Given the description of an element on the screen output the (x, y) to click on. 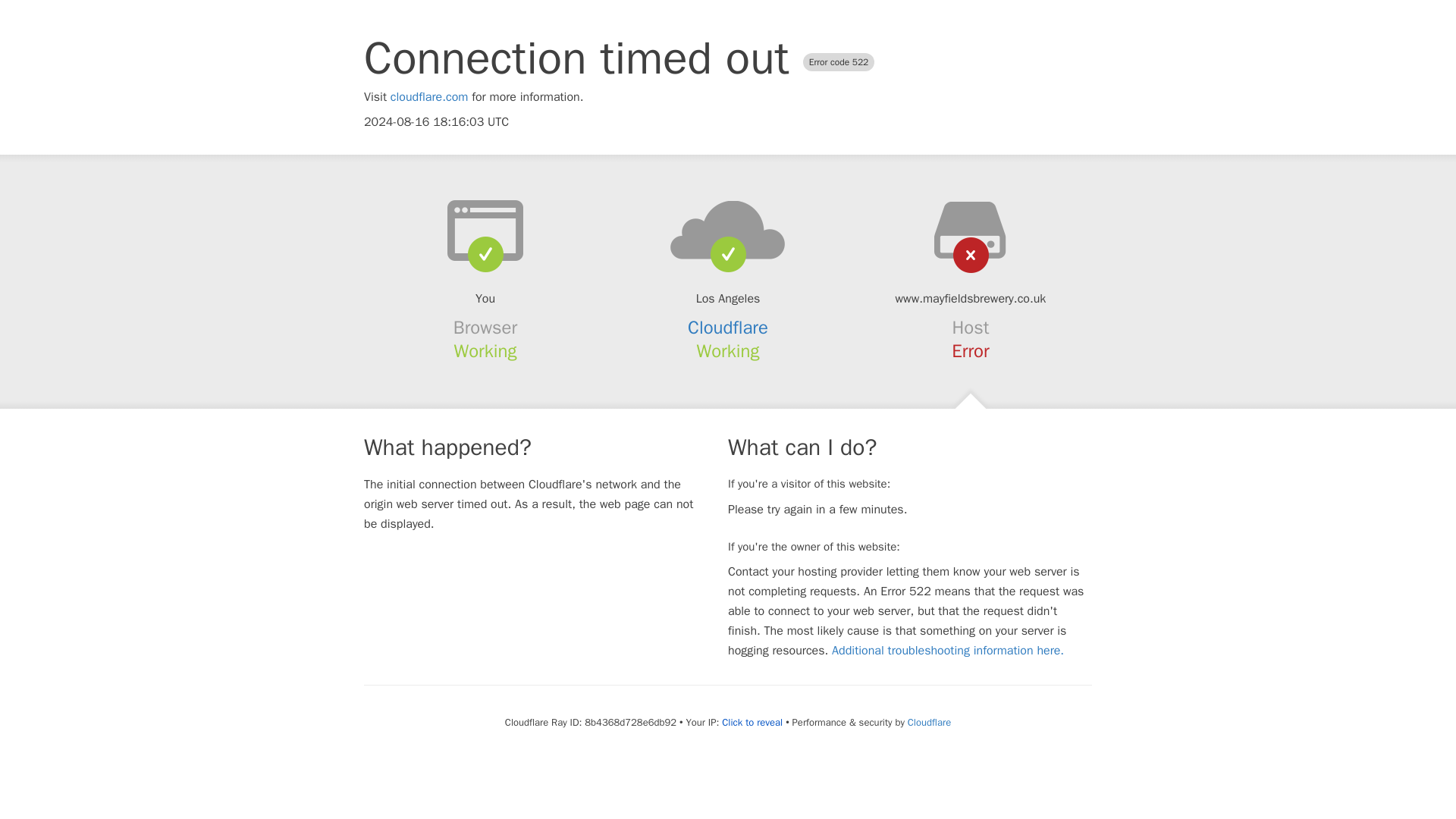
Click to reveal (752, 722)
Cloudflare (928, 721)
Cloudflare (727, 327)
Additional troubleshooting information here. (947, 650)
cloudflare.com (429, 96)
